Given the description of an element on the screen output the (x, y) to click on. 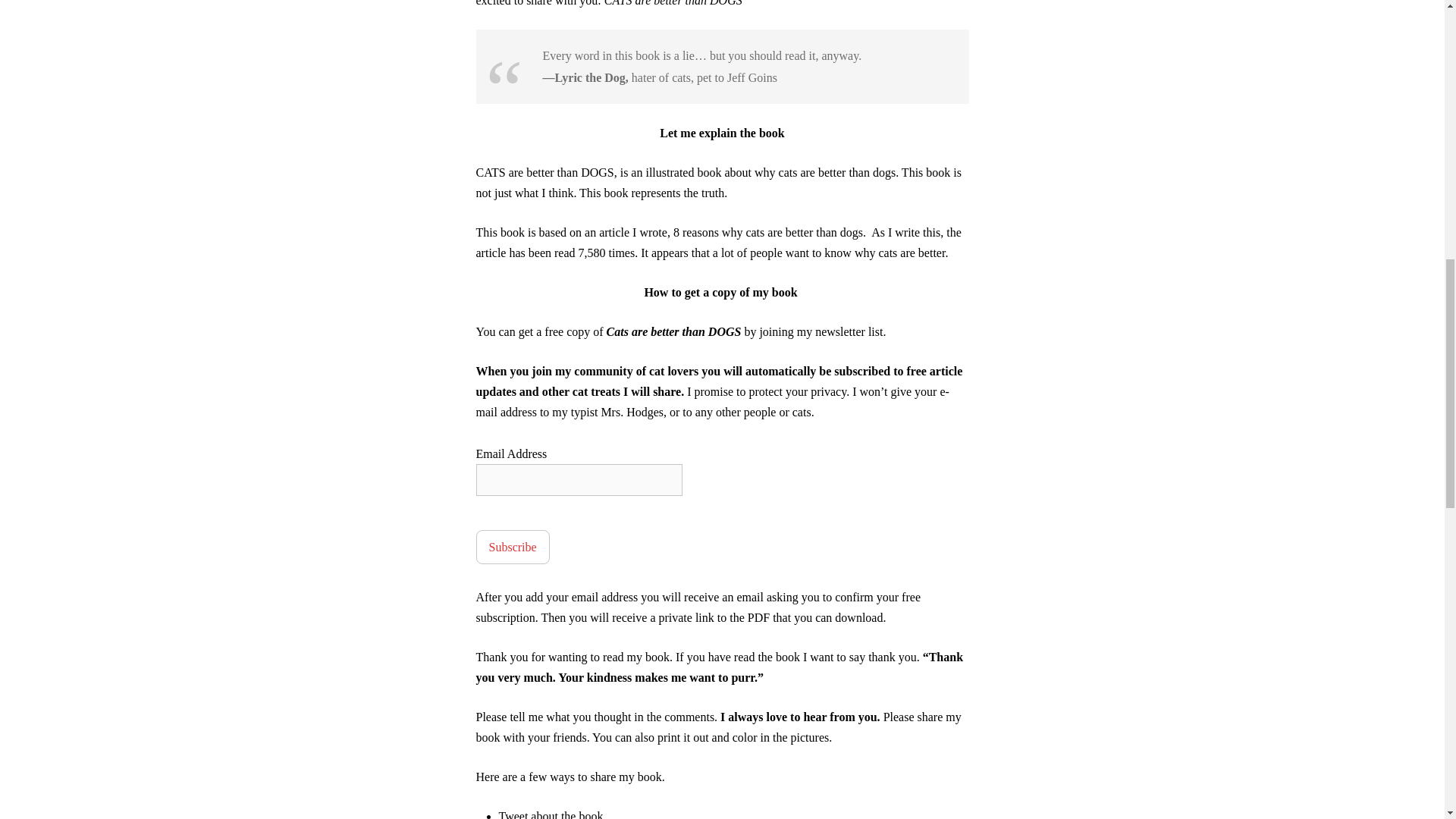
Subscribe (513, 546)
Tweet about the book (551, 814)
Subscribe (513, 546)
8 reasons why cats are better than dogs.  (770, 232)
